Given the description of an element on the screen output the (x, y) to click on. 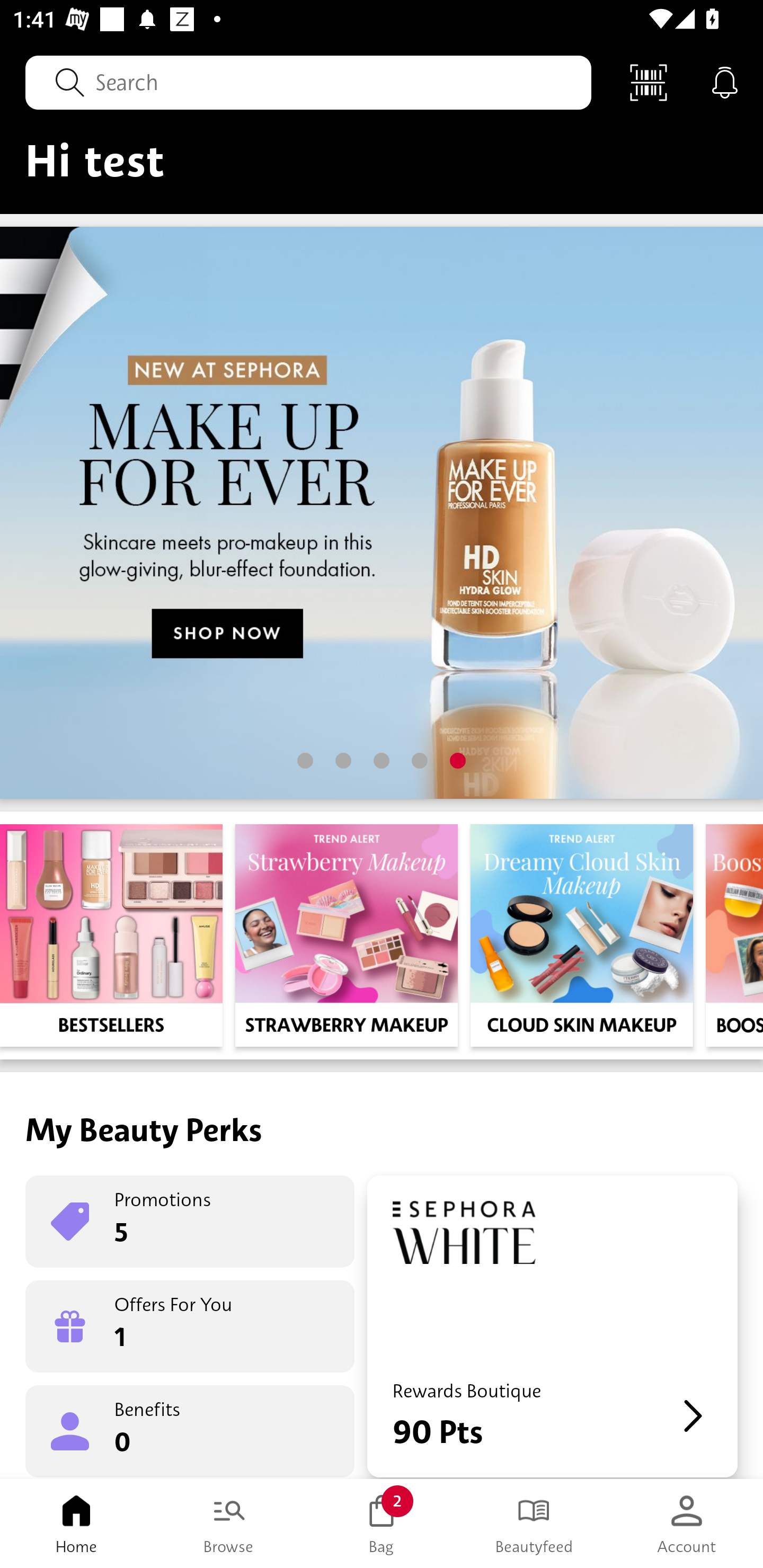
Scan Code (648, 81)
Notifications (724, 81)
Search (308, 81)
Promotions 5 (189, 1221)
Rewards Boutique 90 Pts (552, 1326)
Offers For You 1 (189, 1326)
Benefits 0 (189, 1430)
Browse (228, 1523)
Bag 2 Bag (381, 1523)
Beautyfeed (533, 1523)
Account (686, 1523)
